Given the description of an element on the screen output the (x, y) to click on. 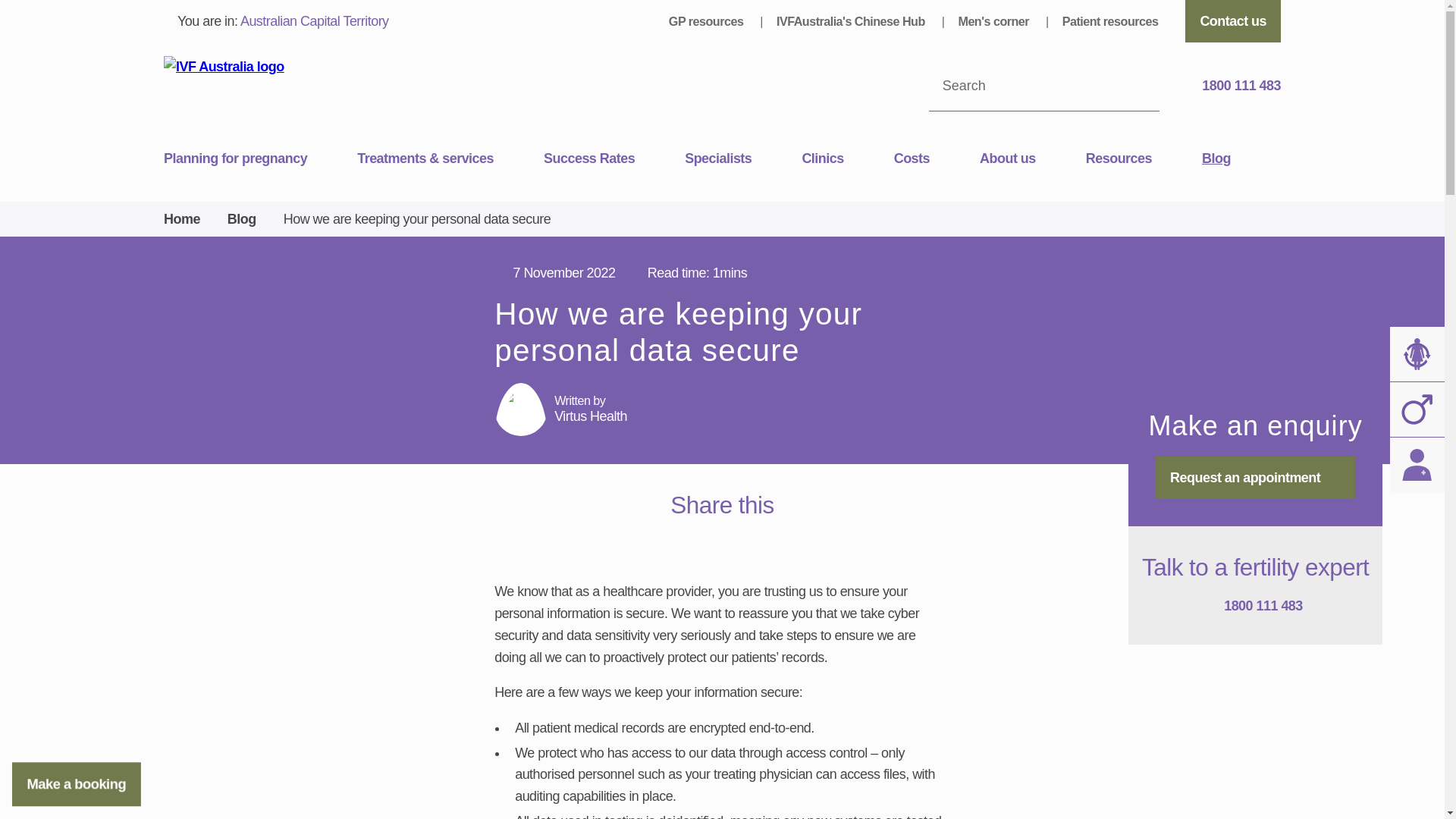
Opens in a new tab (705, 536)
Opens in a new tab (738, 536)
Planning for pregnancy (259, 159)
Patient resources (1110, 20)
1800 111 483 (1233, 85)
Men's corner (995, 20)
Opens in a new tab (671, 536)
GP resources (706, 20)
Opens in a new tab (772, 536)
Contact us (1233, 21)
